Given the description of an element on the screen output the (x, y) to click on. 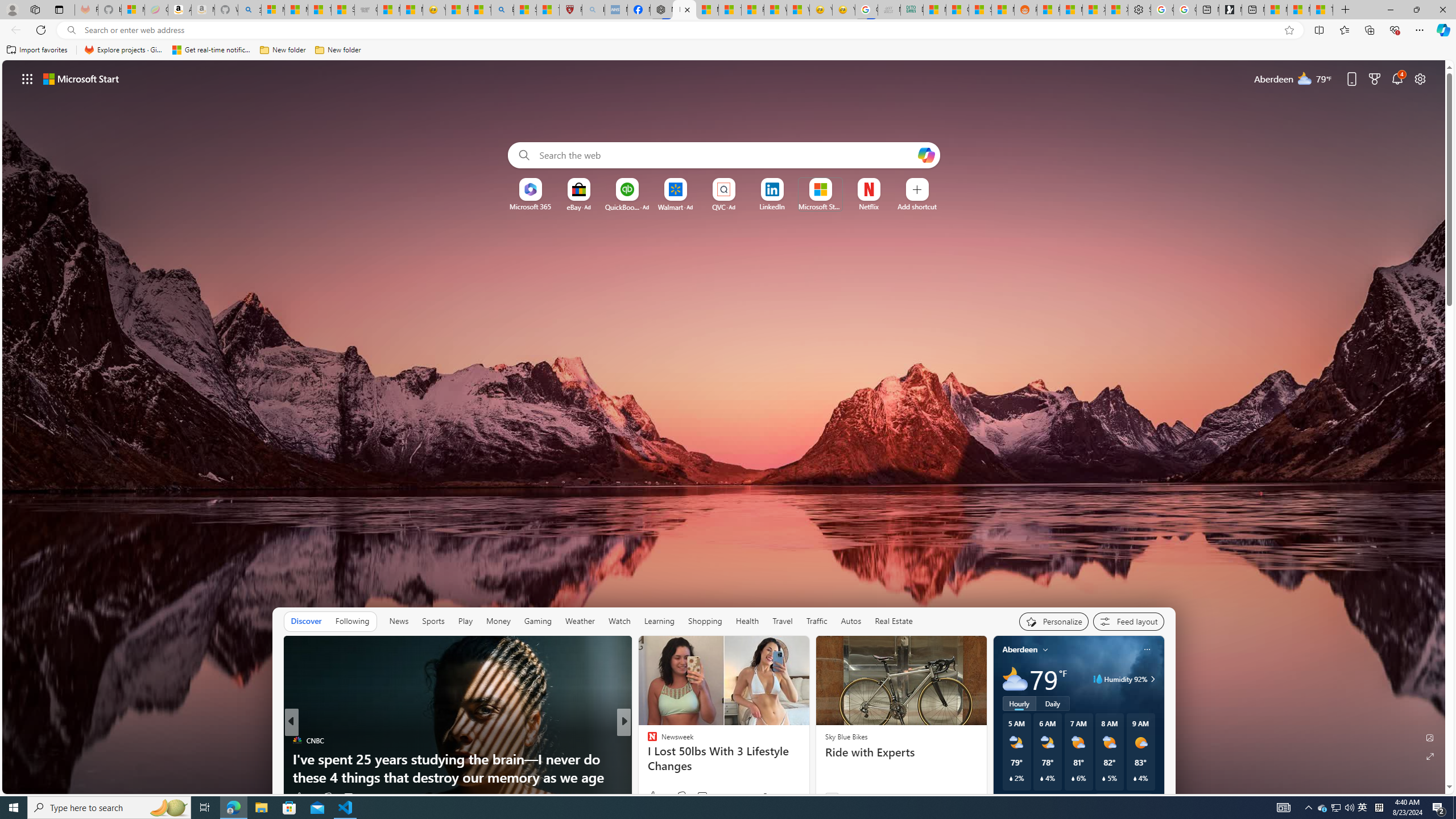
New folder (337, 49)
15 Ways to Lose Weight Over 50 Without Feeling Hungry (807, 767)
15 Things You Should Never Do in Public (807, 777)
View comments 38 Comment (707, 796)
